Given the description of an element on the screen output the (x, y) to click on. 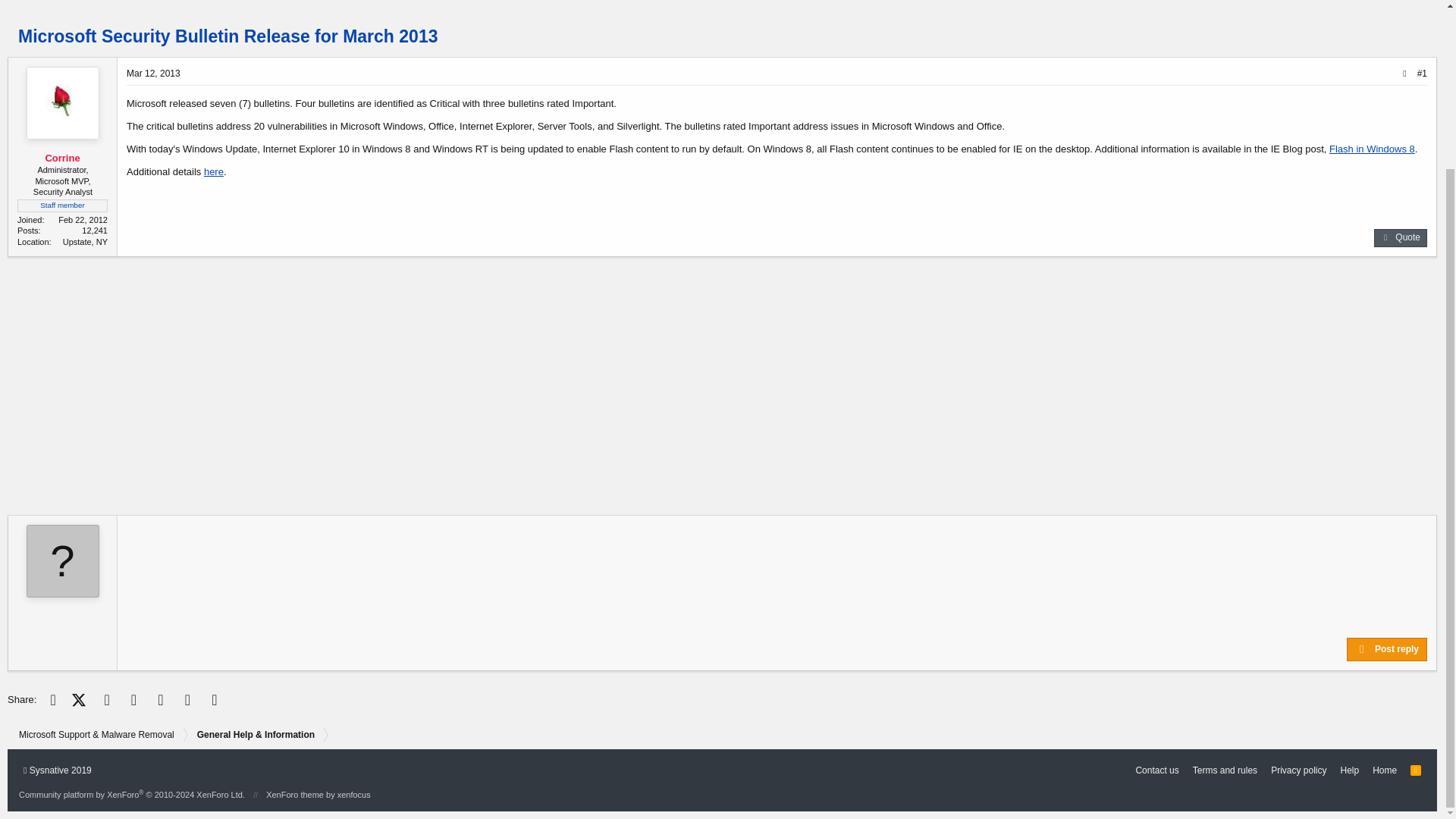
RSS (1415, 771)
Reply, quoting this message (1400, 238)
here (213, 171)
Flash in Windows 8 (1372, 148)
Corrine (62, 156)
Post reply (1386, 649)
Upstate, NY (84, 241)
Style chooser (57, 771)
Mar 12, 2013 (153, 72)
